Given the description of an element on the screen output the (x, y) to click on. 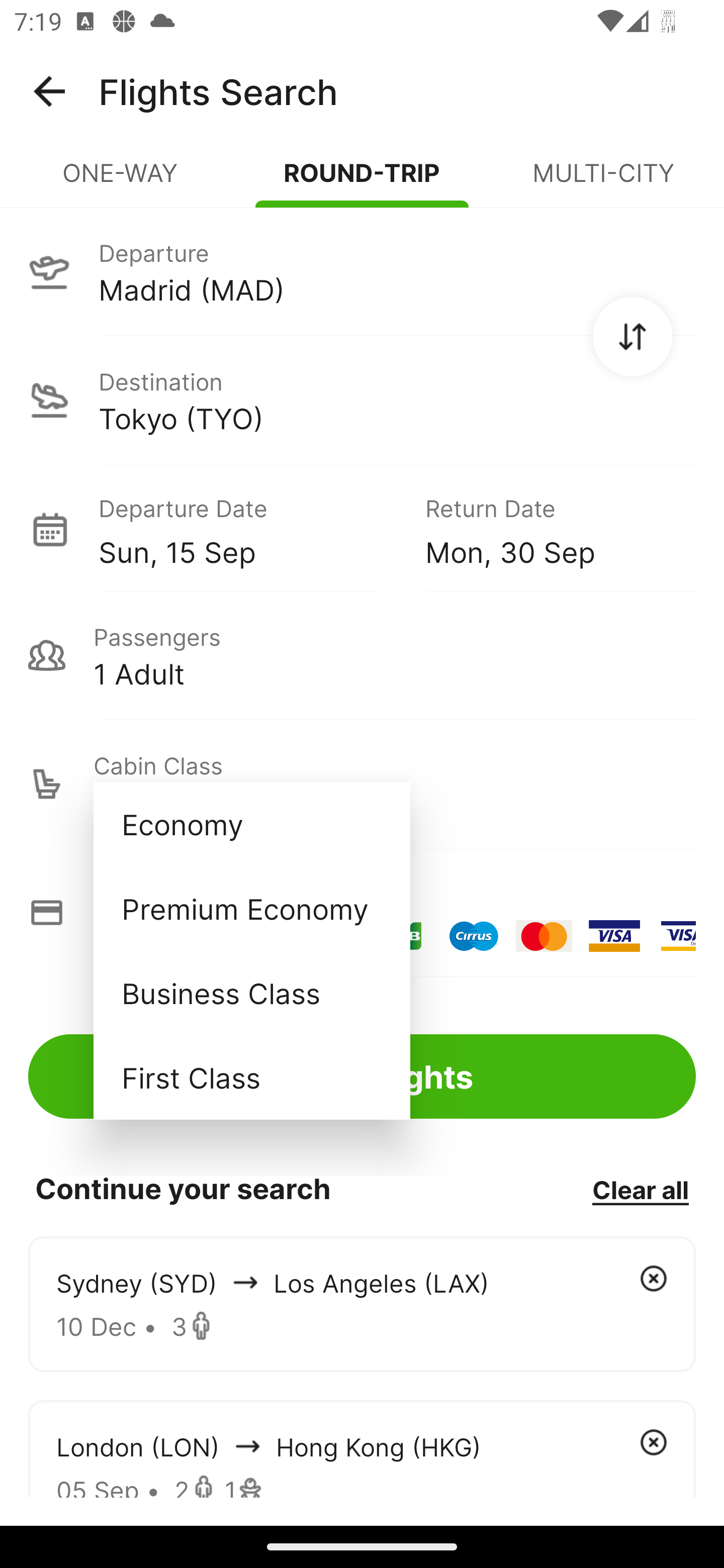
Economy (251, 824)
Premium Economy (251, 908)
Business Class (251, 992)
First Class (251, 1076)
